Given the description of an element on the screen output the (x, y) to click on. 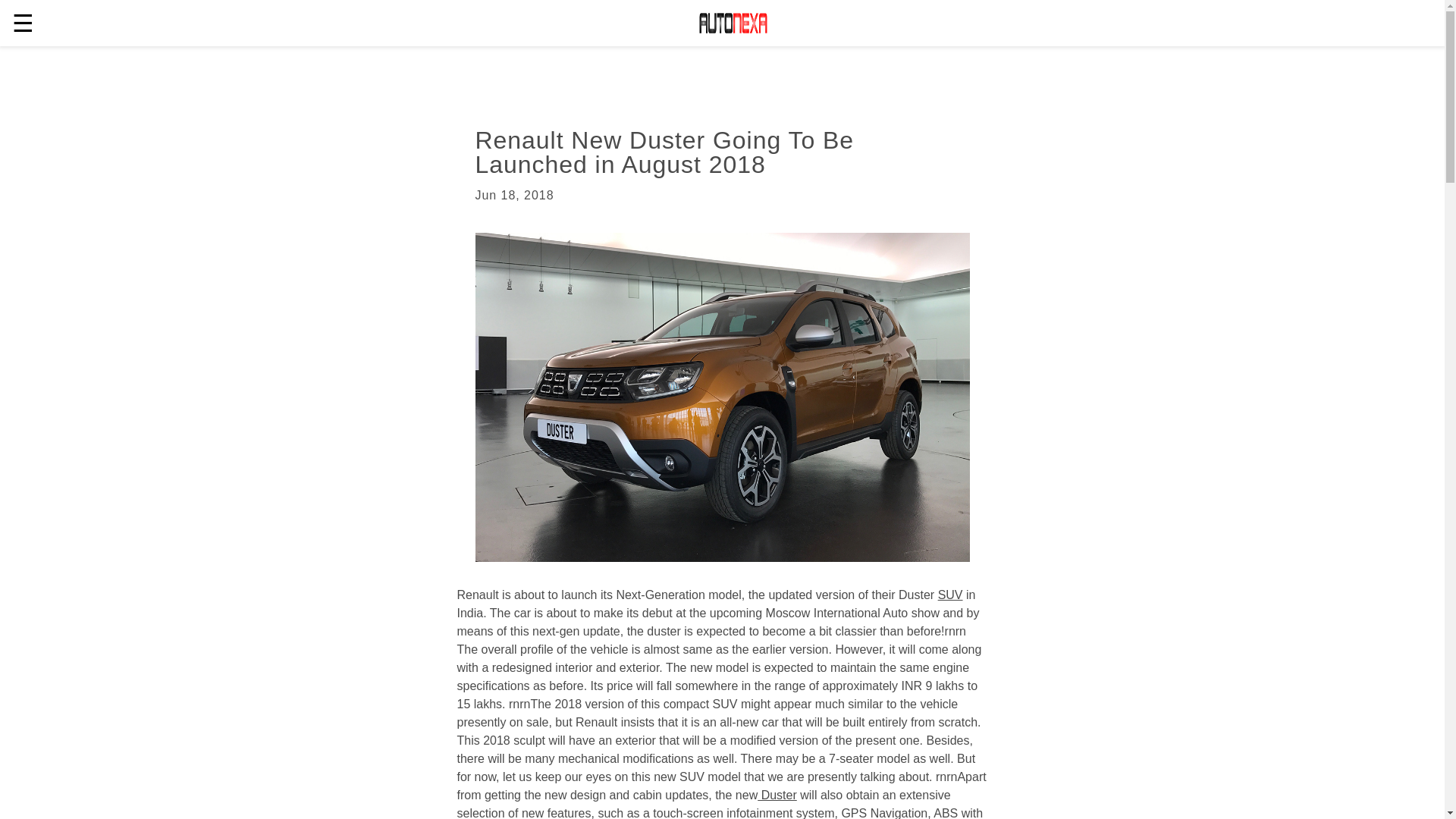
SUV (949, 594)
Duster (776, 794)
3rd party ad content (684, 76)
